Given the description of an element on the screen output the (x, y) to click on. 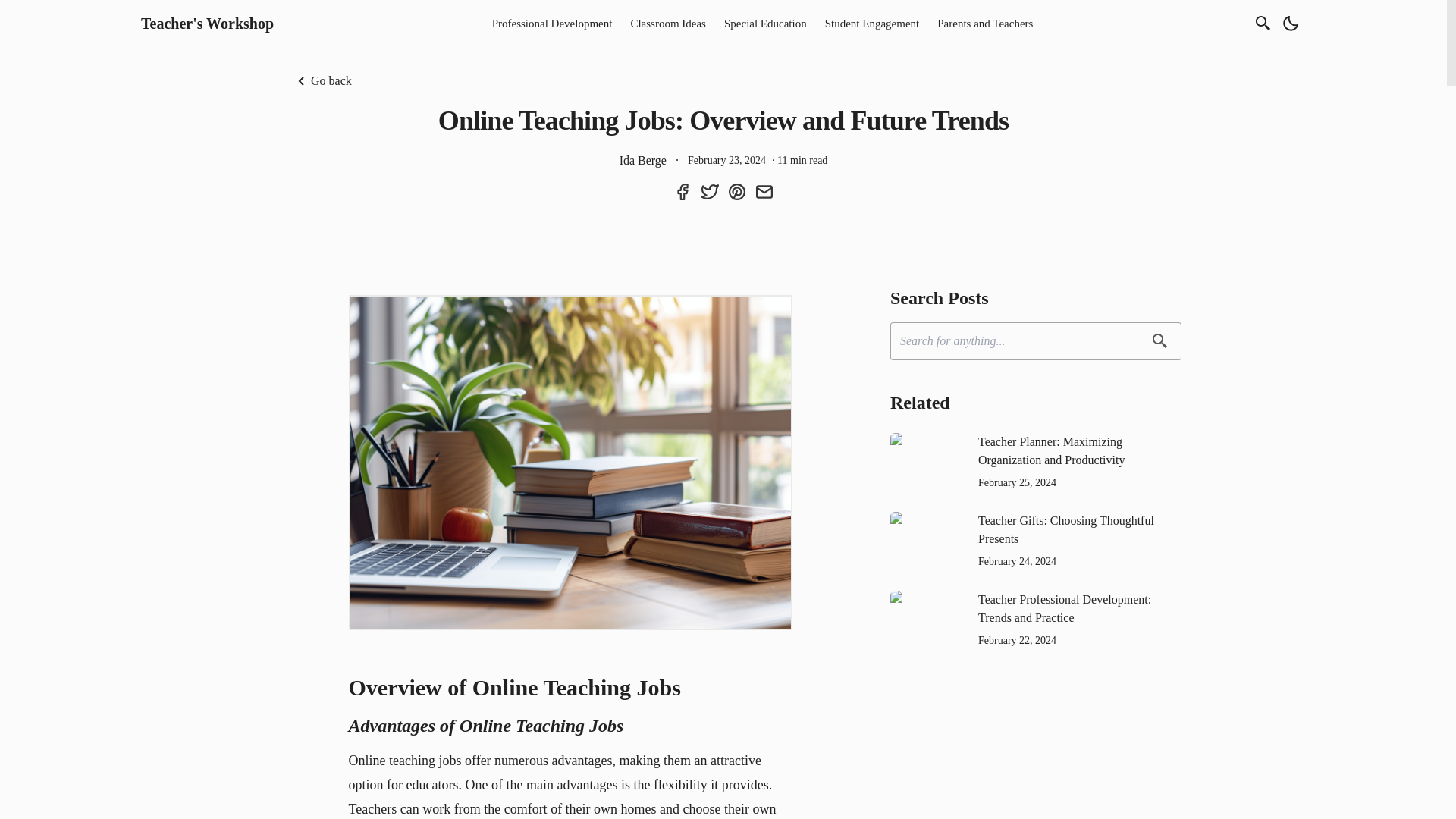
Teacher's Workshop (207, 23)
Professional Development (552, 23)
Share on Twitter (709, 191)
Share on Pinterest (737, 191)
Student Engagement (872, 23)
Share on Facebook (681, 191)
Go back (322, 80)
Teacher Professional Development: Trends and Practice (1079, 608)
Share via Email (764, 191)
Parents and Teachers (985, 23)
Teacher Gifts: Choosing Thoughtful Presents (1079, 529)
Special Education (764, 23)
Classroom Ideas (667, 23)
Teacher Planner: Maximizing Organization and Productivity (1079, 451)
